Given the description of an element on the screen output the (x, y) to click on. 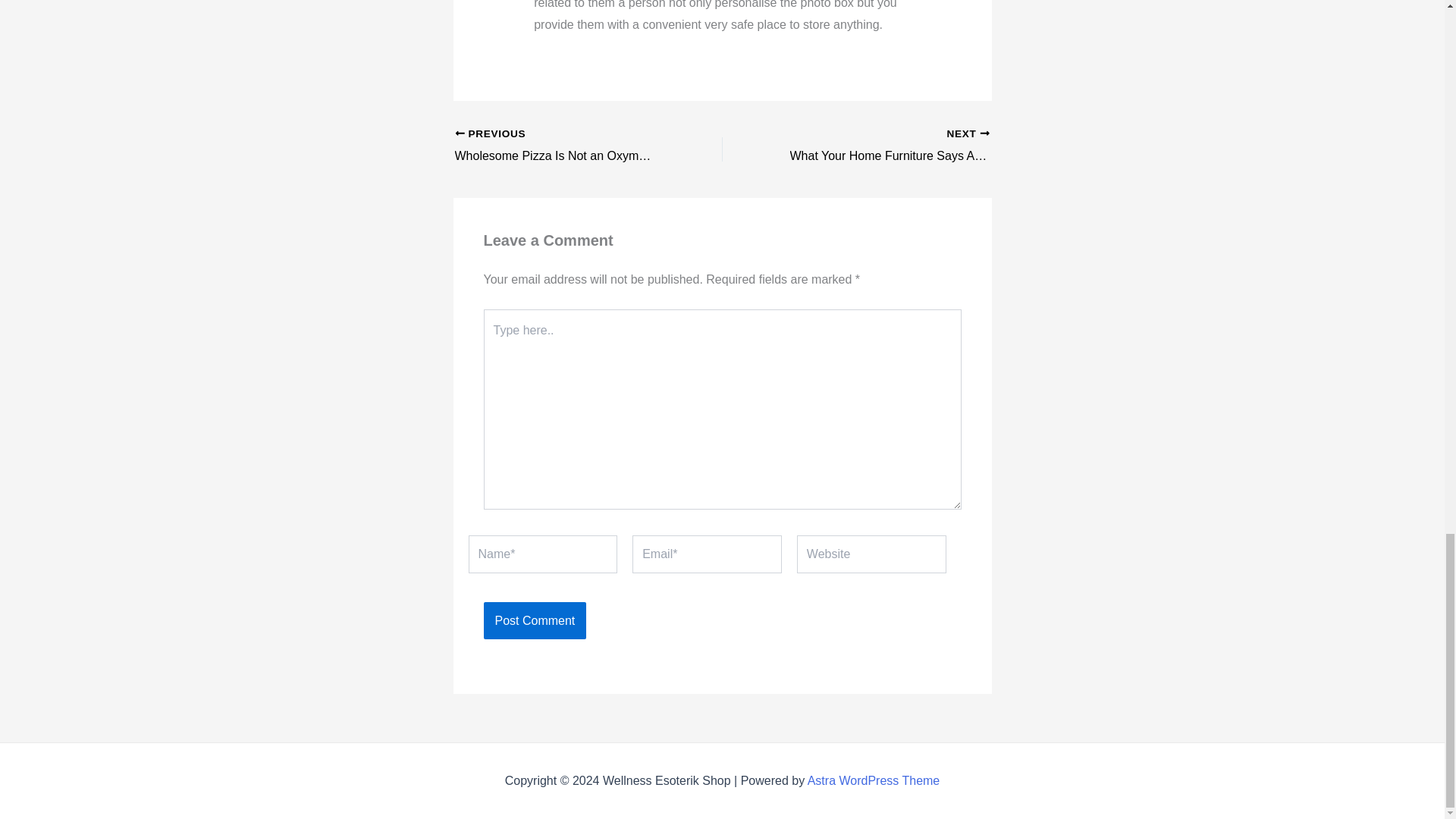
Post Comment (534, 620)
Astra WordPress Theme (874, 780)
What Your Home Furniture Says About You (882, 146)
Wholesome Pizza Is Not an Oxymoron! (561, 146)
Post Comment (561, 146)
